Given the description of an element on the screen output the (x, y) to click on. 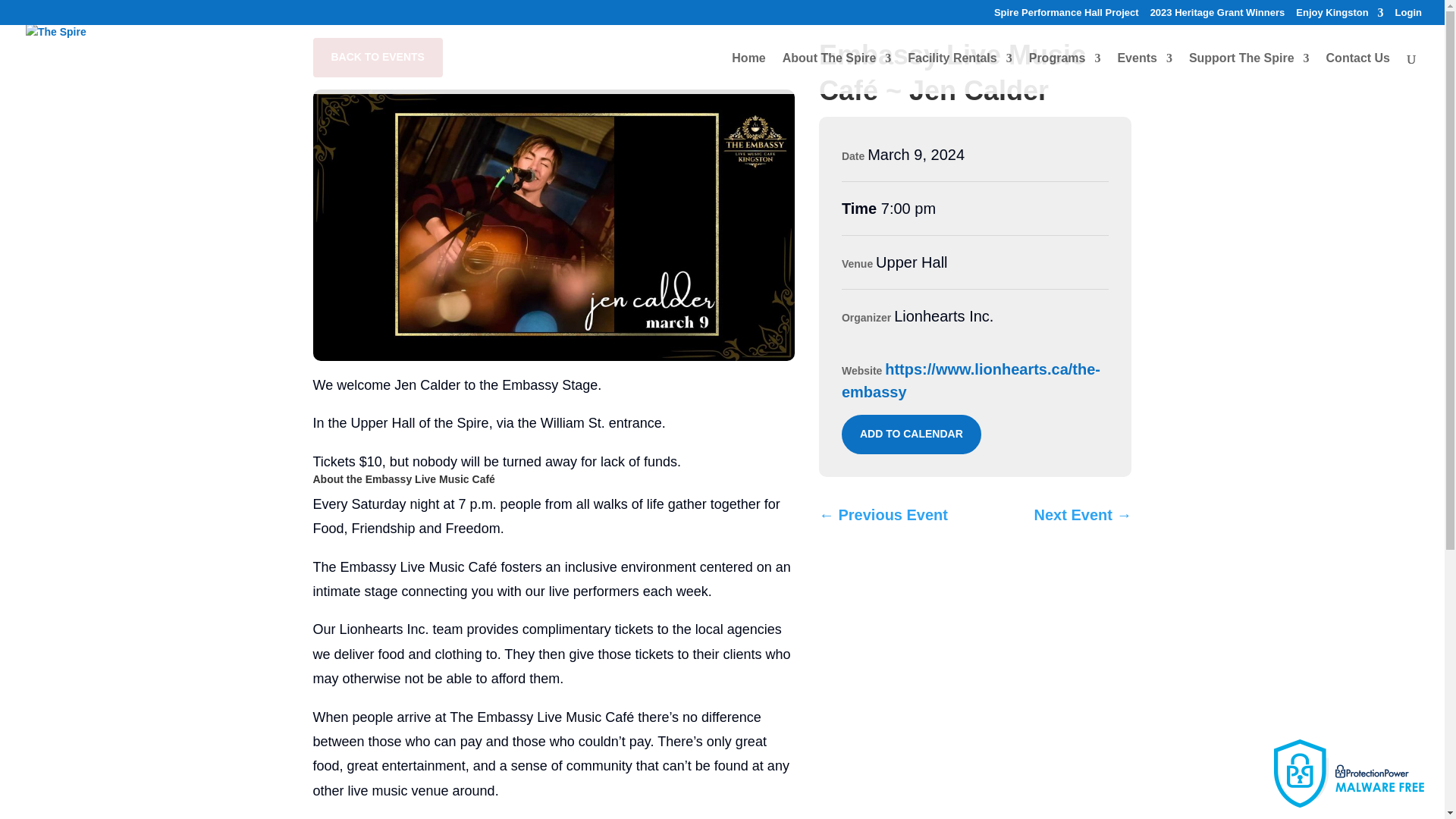
Enjoy Kingston (1339, 16)
Facility Rentals (959, 73)
Programs (1064, 73)
About The Spire (837, 73)
Login (1408, 16)
Spire Performance Hall Project (1066, 16)
2023 Heritage Grant Winners (1217, 16)
Events (1144, 73)
Support The Spire (1248, 73)
